Given the description of an element on the screen output the (x, y) to click on. 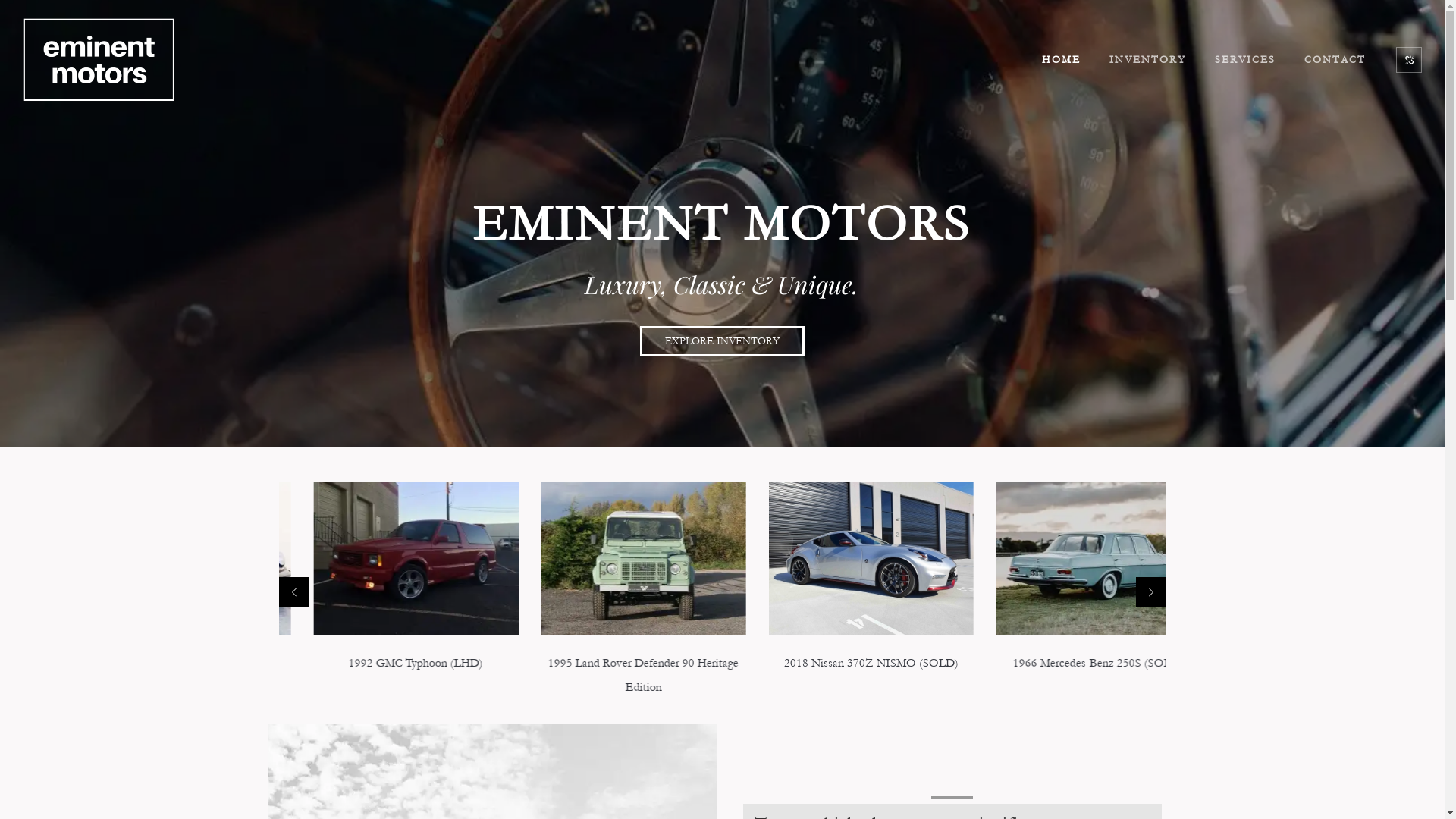
1992 GMC Typhoon (LHD) Element type: text (608, 662)
1990 Porsche 911 (964) Carrera 2 Element type: text (381, 662)
CONTACT Element type: text (1334, 59)
EXPLORE INVENTORY Element type: text (722, 341)
2018 Nissan 370Z NISMO (SOLD) Element type: text (1051, 662)
1995 Land Rover Defender 90 Heritage Edition Element type: text (834, 674)
SERVICES Element type: text (1244, 59)
HOME Element type: text (1061, 59)
INVENTORY Element type: text (1147, 59)
